Given the description of an element on the screen output the (x, y) to click on. 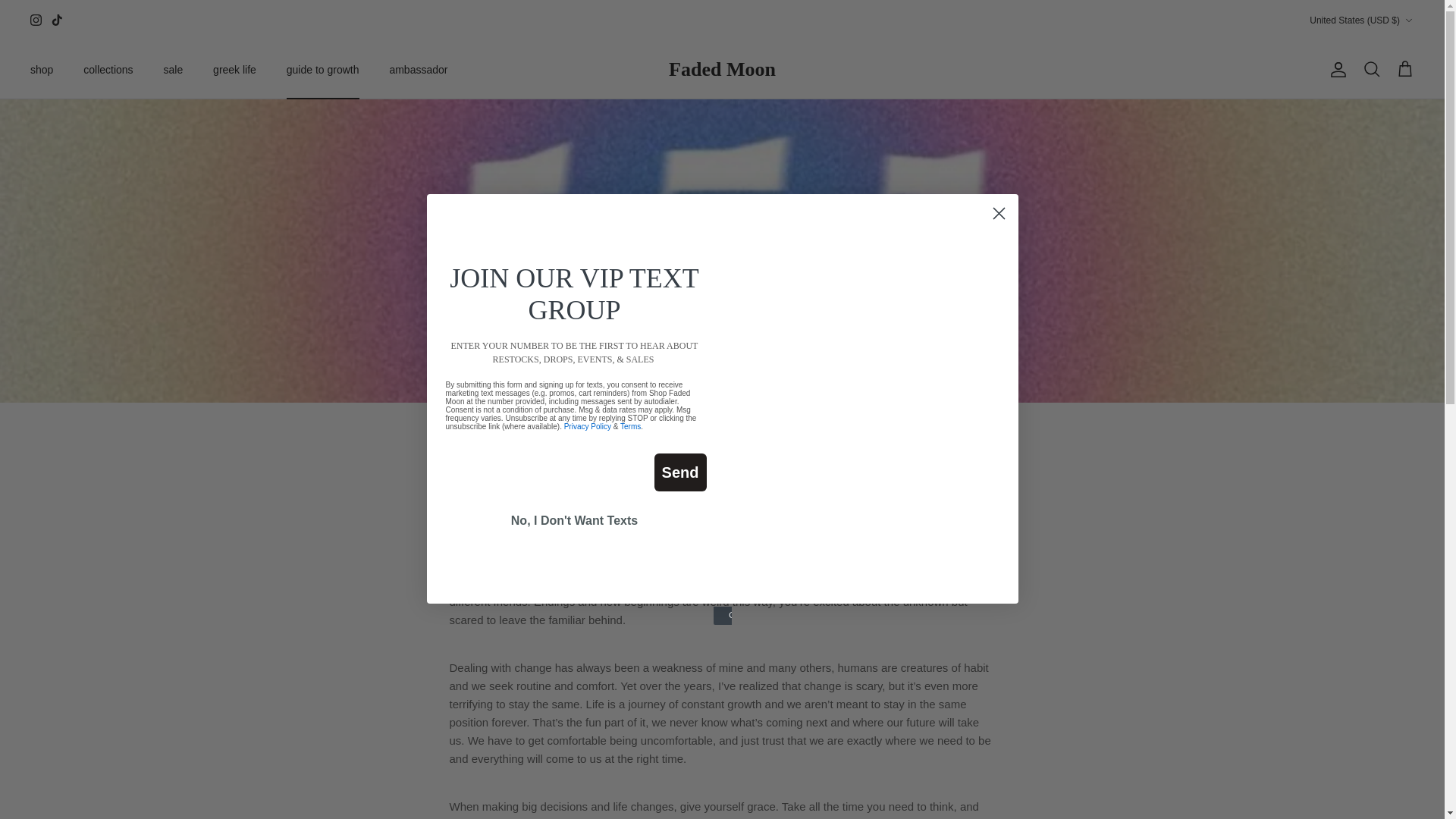
Instagram (36, 19)
Down (1408, 20)
Instagram (36, 19)
Faded Moon (722, 69)
